Given the description of an element on the screen output the (x, y) to click on. 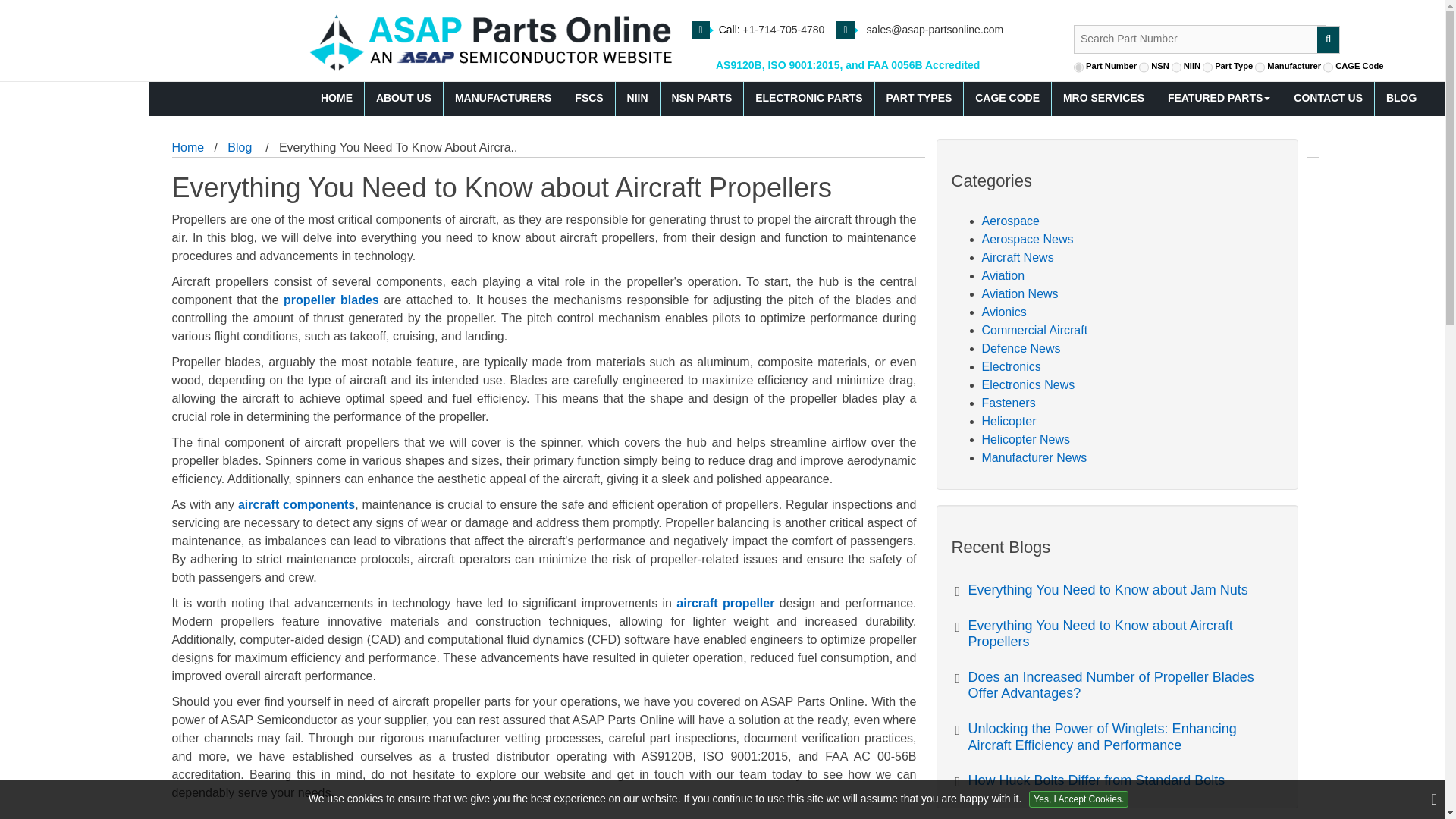
CONTACT US (1328, 98)
FSCS (588, 98)
NSN PARTS (701, 98)
aircraft components (296, 504)
ABOUT US (404, 98)
BLOG (1401, 98)
FEATURED PARTS (1219, 98)
HOME (336, 98)
NIIN (638, 98)
Home (187, 146)
Blog (239, 146)
PART TYPES (919, 98)
MANUFACTURERS (504, 98)
MRO SERVICES (1103, 98)
aircraft propeller (725, 603)
